Given the description of an element on the screen output the (x, y) to click on. 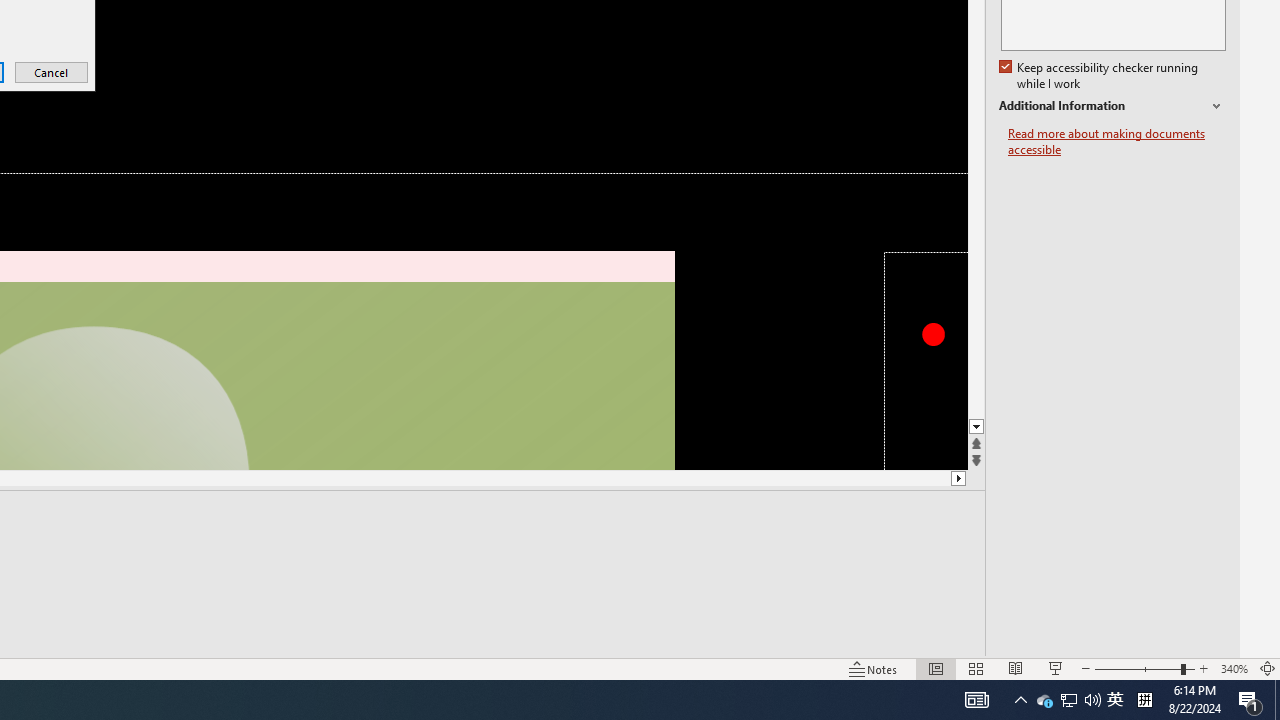
Zoom 340% (1234, 668)
